Given the description of an element on the screen output the (x, y) to click on. 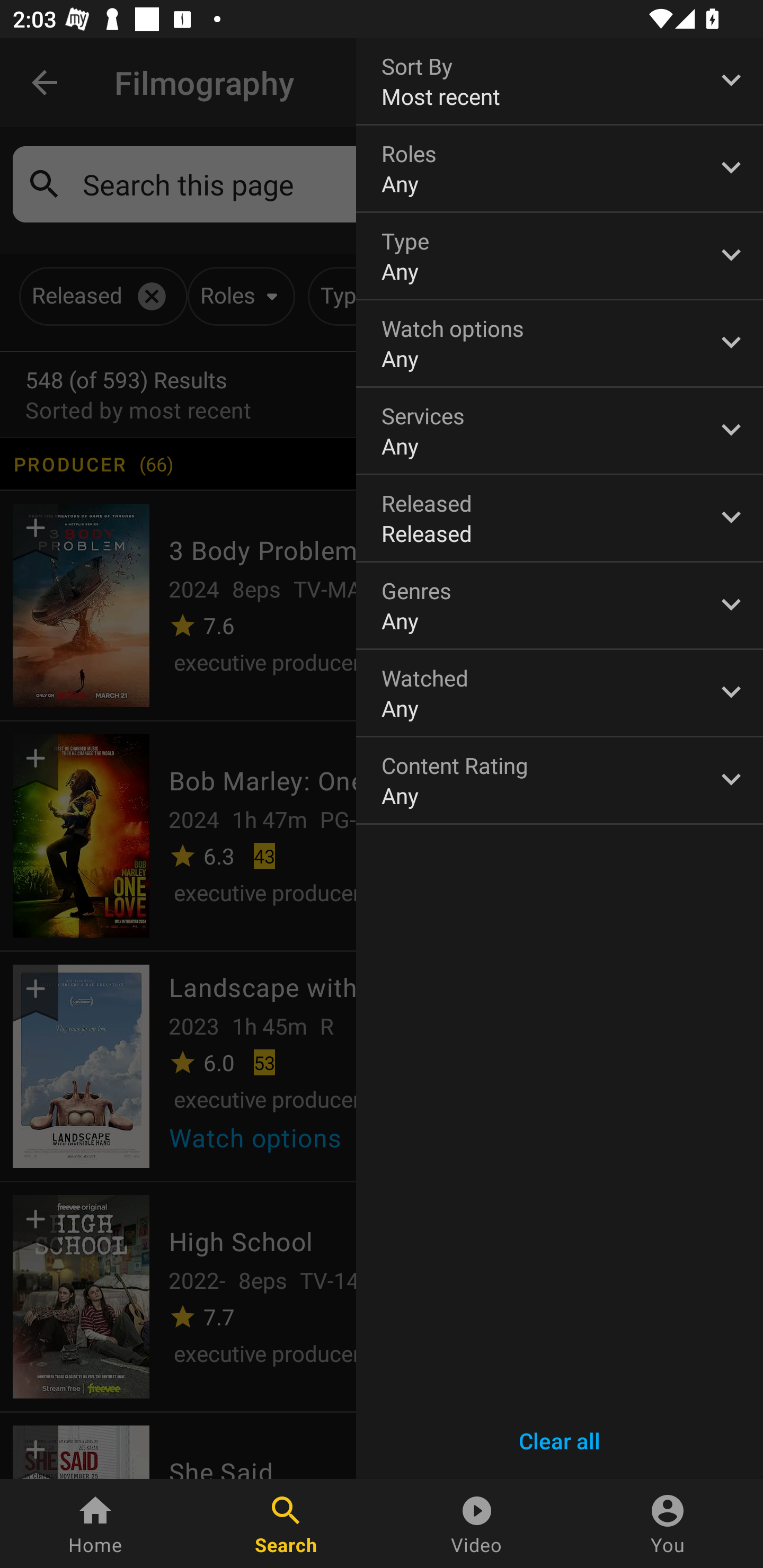
Sort By Most recent (559, 80)
Roles Any (559, 168)
Type Any (559, 256)
Watch options Any (559, 343)
Services Any (559, 430)
Released (559, 518)
Genres Any (559, 605)
Watched Any (559, 692)
Content Rating Any (559, 779)
Clear all (559, 1440)
Home (95, 1523)
Video (476, 1523)
You (667, 1523)
